Given the description of an element on the screen output the (x, y) to click on. 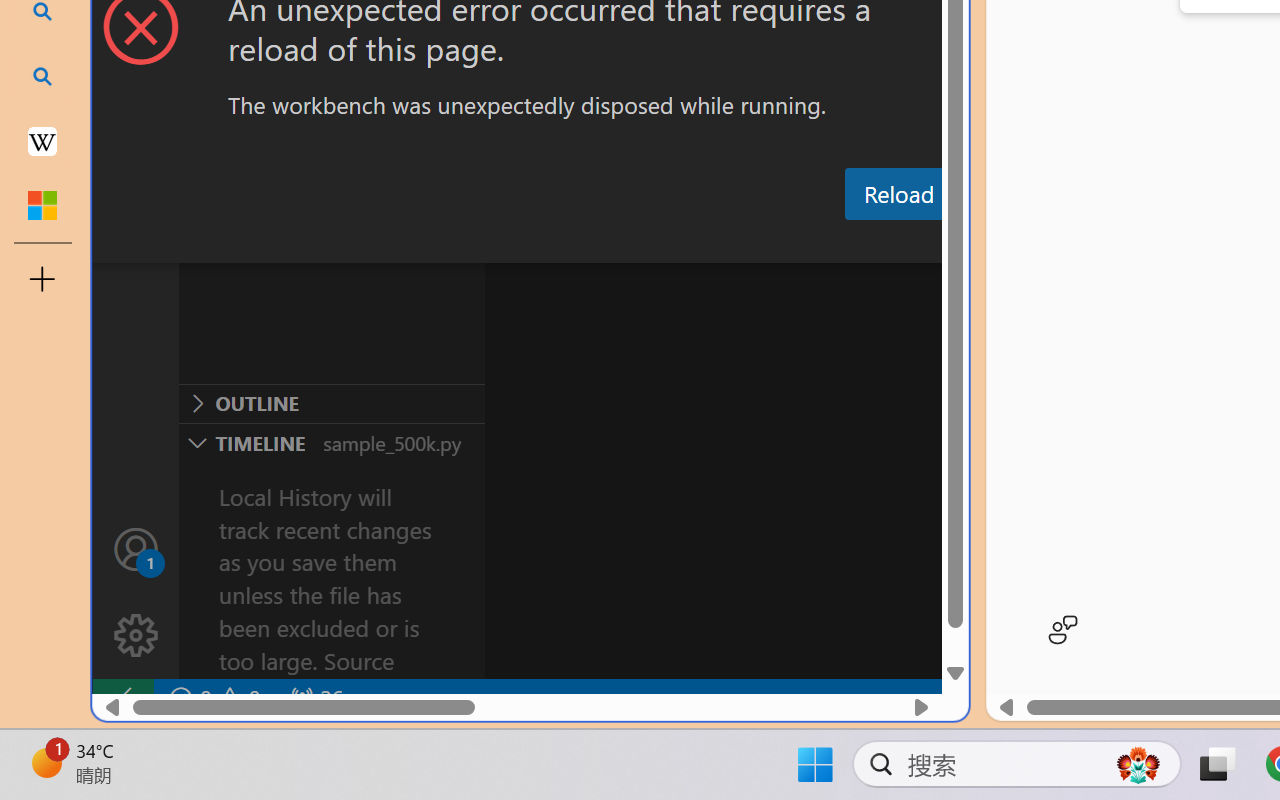
Manage (135, 591)
Outline Section (331, 403)
Reload (898, 193)
No Problems (212, 698)
